Given the description of an element on the screen output the (x, y) to click on. 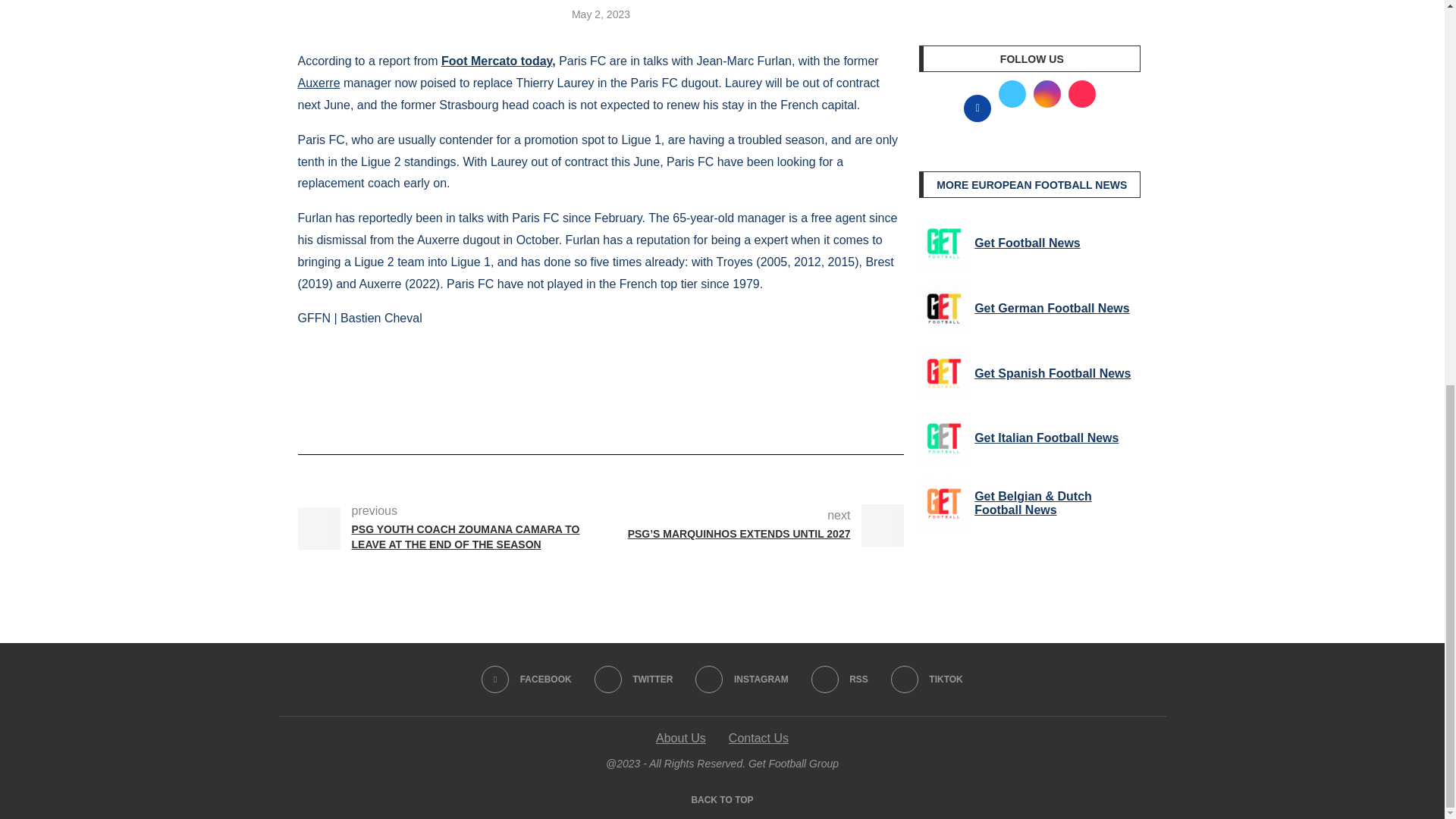
Get Italian Football News (943, 438)
Get Football News (943, 243)
Get German Football News (943, 308)
Get Spanish Football News (943, 373)
